Given the description of an element on the screen output the (x, y) to click on. 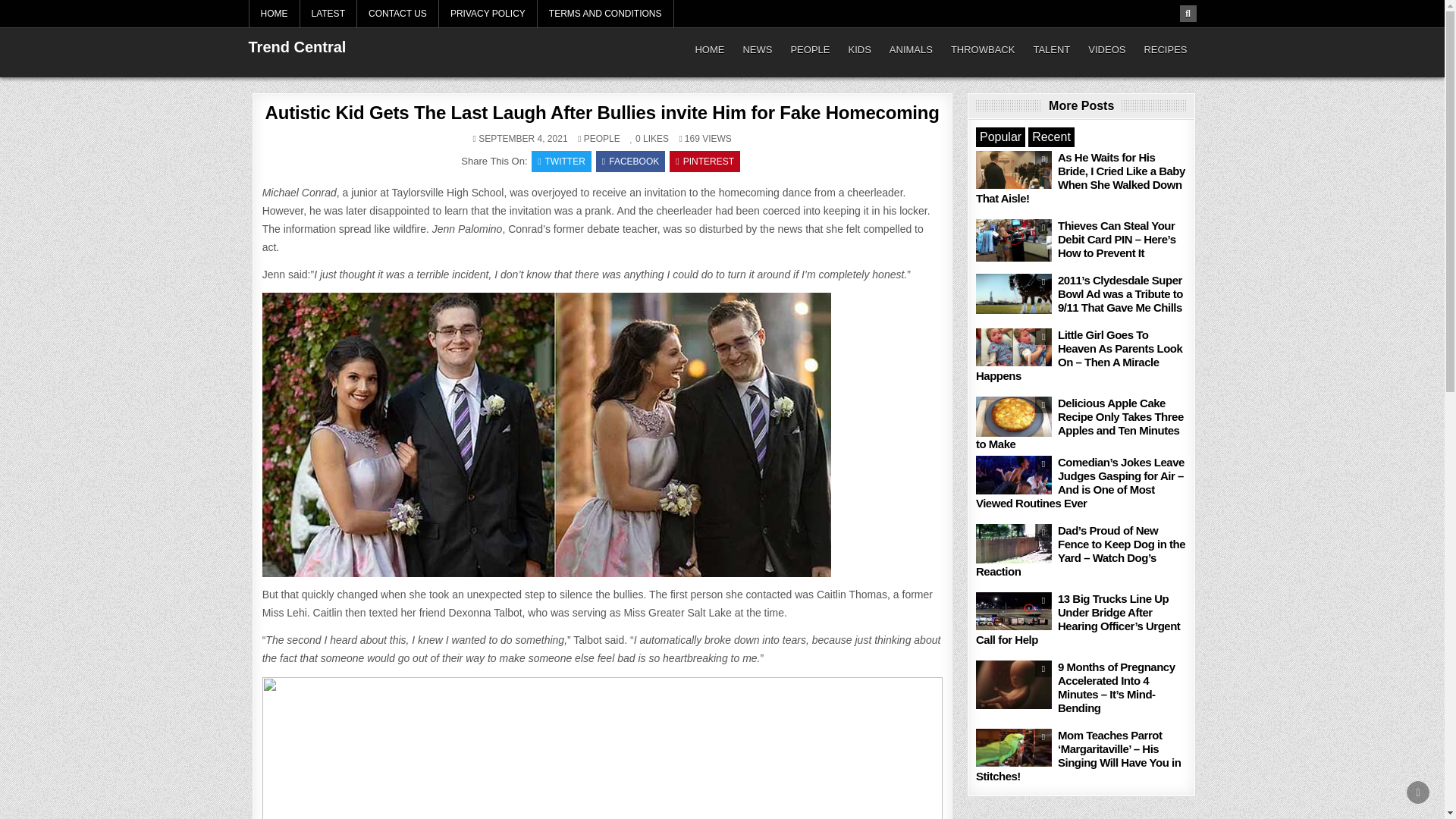
Trend Central (297, 46)
Like this (635, 138)
VIDEOS (1106, 49)
Share this on Facebook (630, 160)
PRIVACY POLICY (488, 13)
HOME (709, 49)
Tweet This! (561, 160)
TWITTER (561, 160)
HOME (273, 13)
LATEST (327, 13)
